Given the description of an element on the screen output the (x, y) to click on. 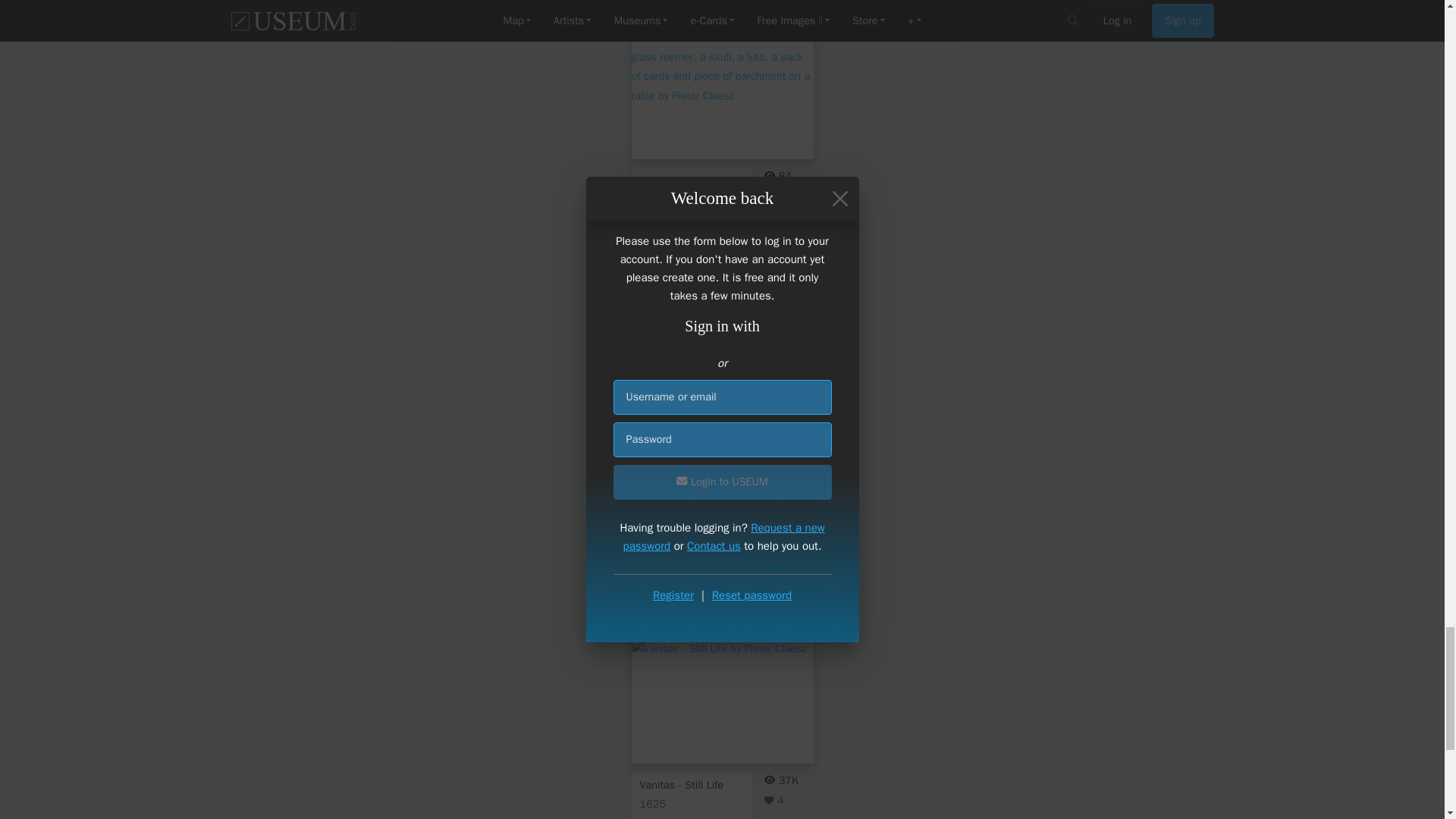
BE (713, 263)
BE (713, 544)
